Given the description of an element on the screen output the (x, y) to click on. 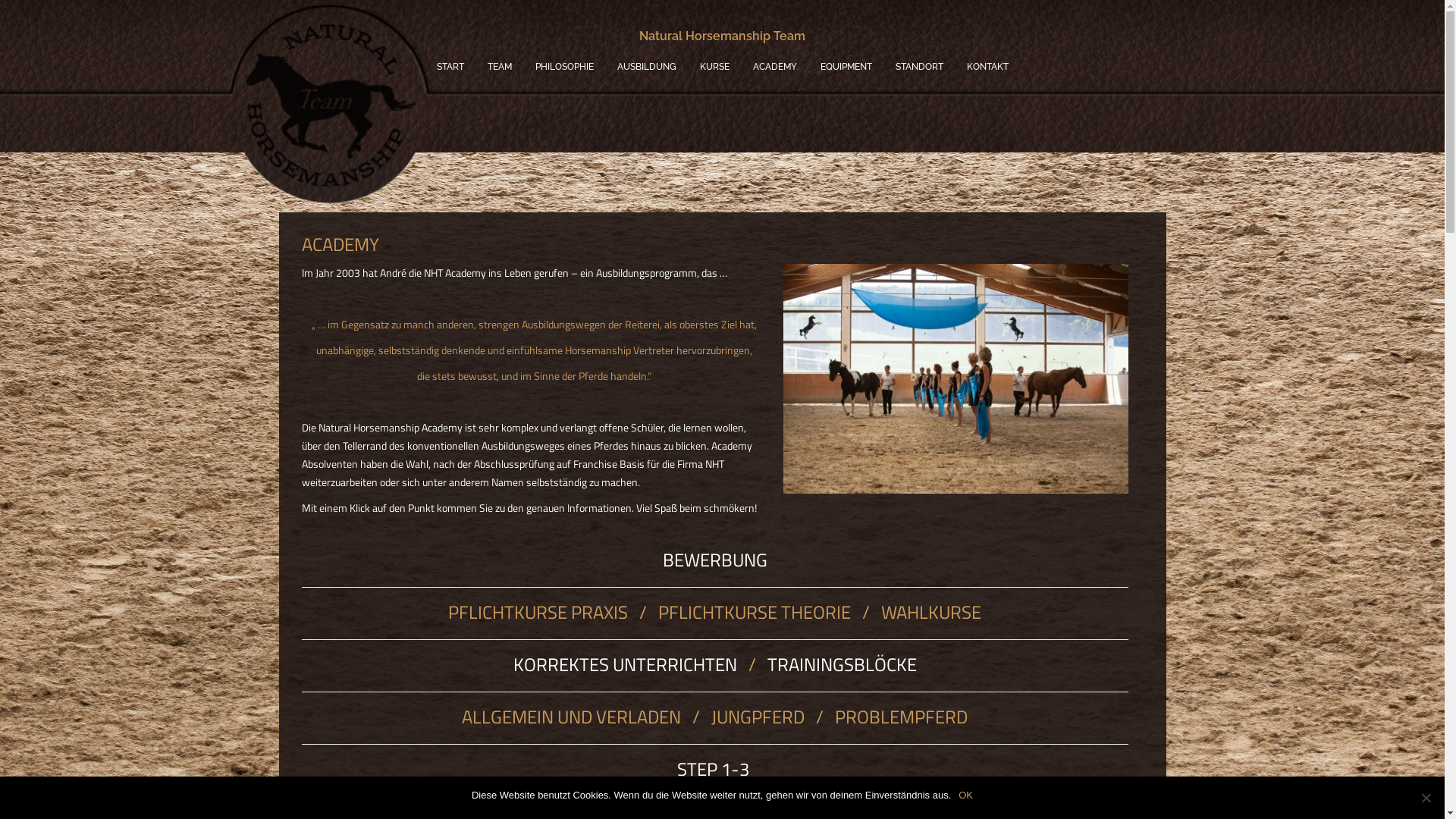
PFLICHTKURSE THEORIE Element type: text (754, 611)
Nein Element type: hover (1425, 797)
BEWERBUNG Element type: text (714, 559)
PHILOSOPHIE Element type: text (564, 66)
AUSBILDUNG Element type: text (646, 66)
KONTAKT Element type: text (986, 66)
ACADEMY Element type: text (774, 66)
STEP 1-3  Element type: text (714, 768)
PROBLEMPFERD Element type: text (900, 716)
KURSE Element type: text (713, 66)
STANDORT Element type: text (918, 66)
START Element type: text (450, 66)
WAHLKURSE Element type: text (931, 611)
ALLGEMEIN UND VERLADEN Element type: text (570, 716)
Springe zum Inhalt Element type: text (0, 0)
OK Element type: text (965, 795)
TEAM Element type: text (498, 66)
EQUIPMENT Element type: text (846, 66)
PFLICHTKURSE PRAXIS Element type: text (537, 611)
KORREKTES UNTERRICHTEN Element type: text (624, 663)
JUNGPFERD Element type: text (759, 716)
